Given the description of an element on the screen output the (x, y) to click on. 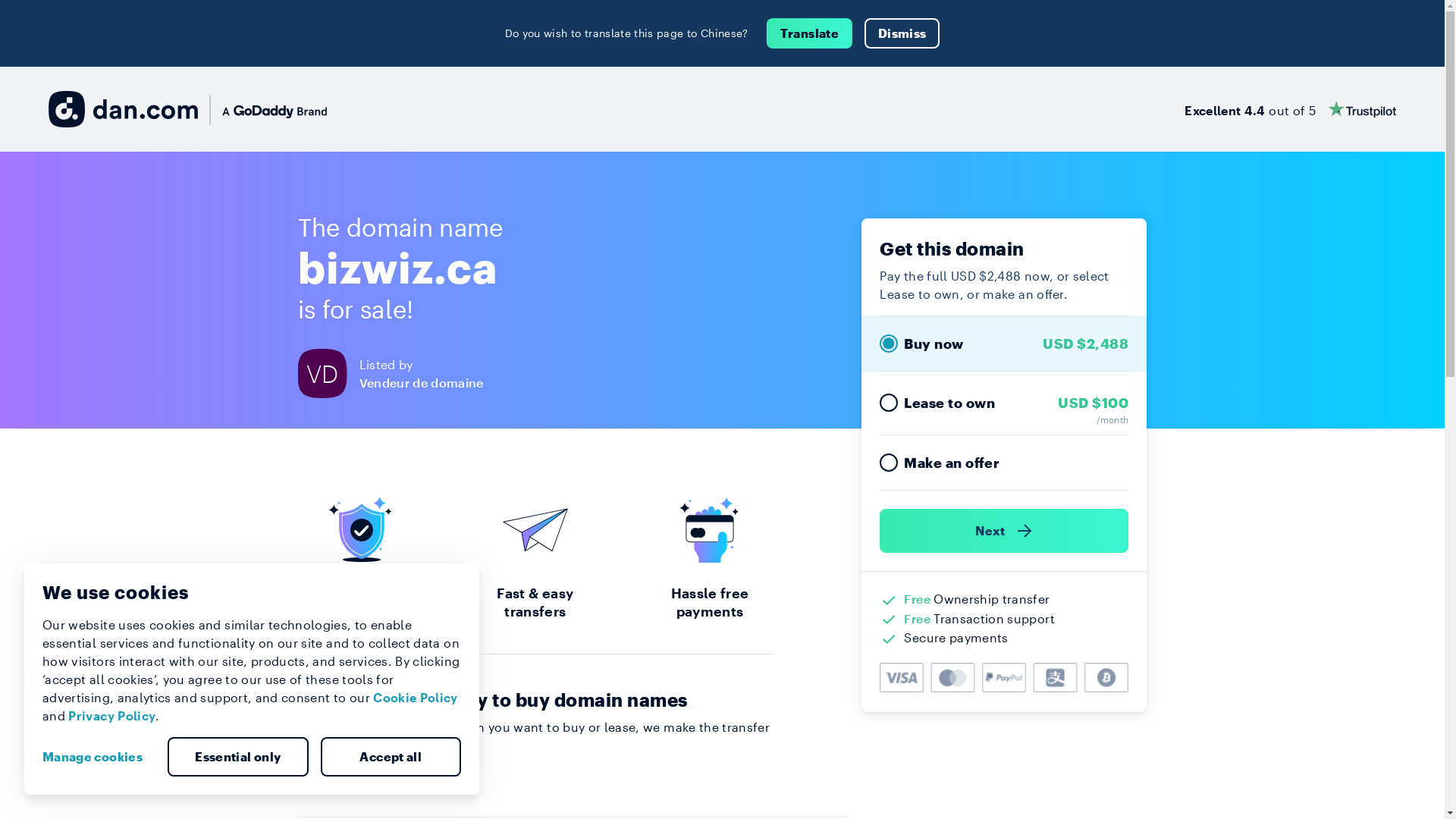
Excellent 4.4 out of 5 Element type: text (1290, 109)
Privacy Policy Element type: text (111, 715)
Cookie Policy Element type: text (415, 697)
Dismiss Element type: text (901, 33)
VD Element type: text (327, 373)
Translate Element type: text (809, 33)
Essential only Element type: text (237, 756)
Next
) Element type: text (1003, 530)
Accept all Element type: text (390, 756)
Manage cookies Element type: text (98, 756)
